Given the description of an element on the screen output the (x, y) to click on. 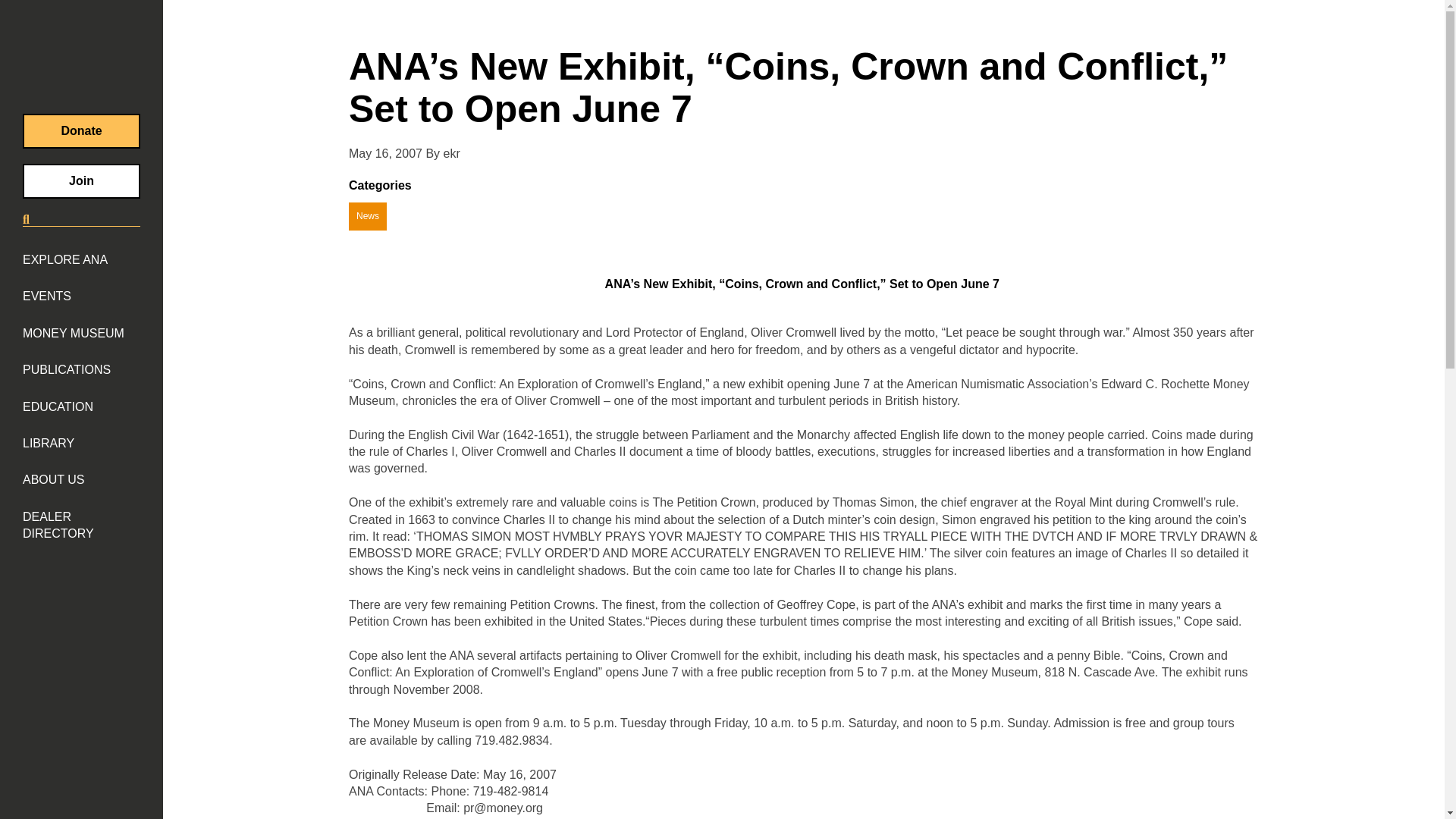
EXPLORE ANA (65, 259)
EDUCATION (58, 407)
MONEY MUSEUM (73, 333)
Join (81, 181)
News (368, 216)
EVENTS (47, 296)
PUBLICATIONS (66, 370)
DEALER DIRECTORY (81, 525)
Donate (81, 130)
ABOUT US (53, 479)
LIBRARY (48, 443)
